Given the description of an element on the screen output the (x, y) to click on. 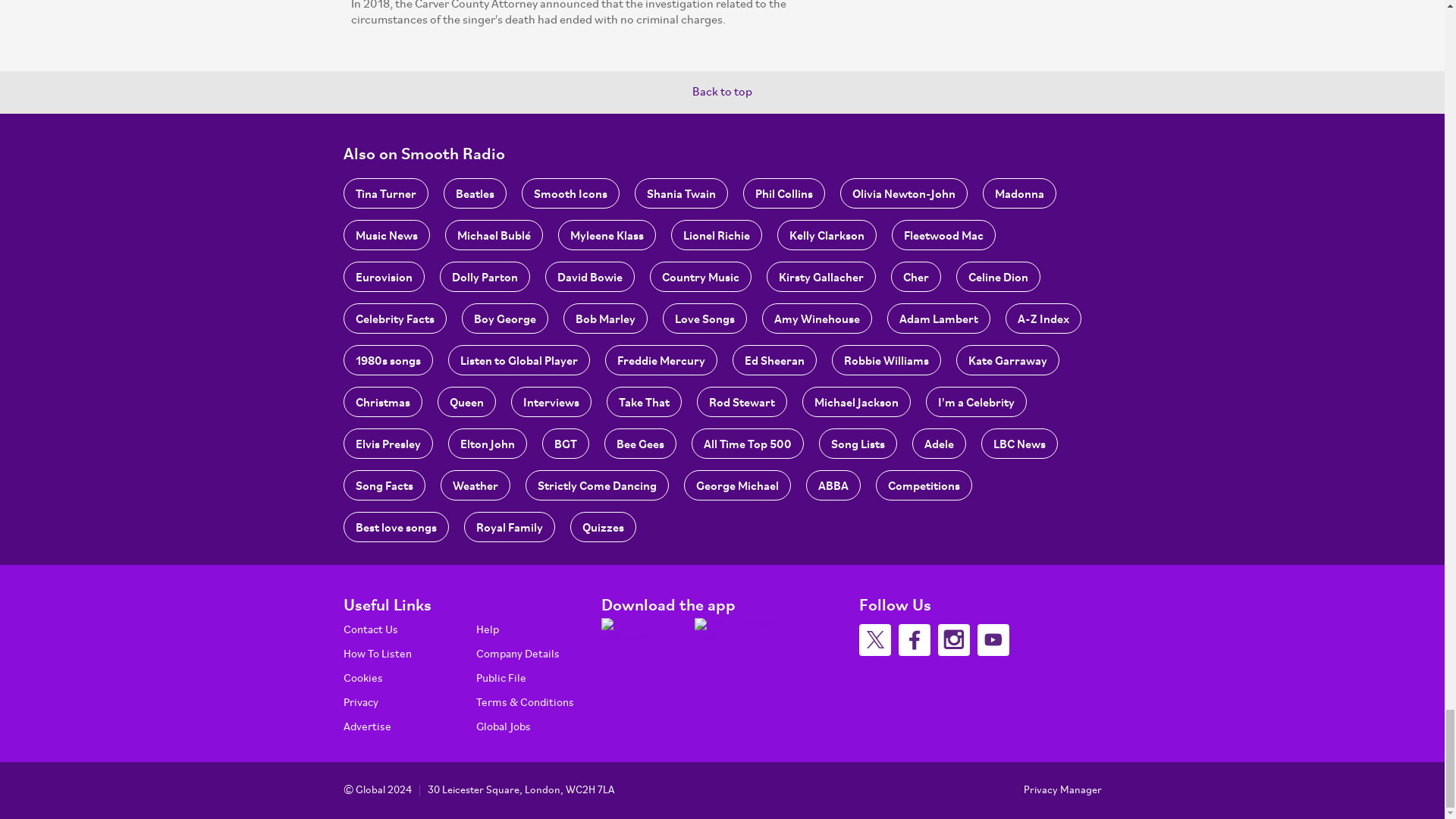
Follow Smooth on Facebook (914, 640)
Follow Smooth on X (874, 640)
Follow Smooth on Youtube (992, 640)
Follow Smooth on Instagram (953, 640)
Back to top (722, 92)
